Given the description of an element on the screen output the (x, y) to click on. 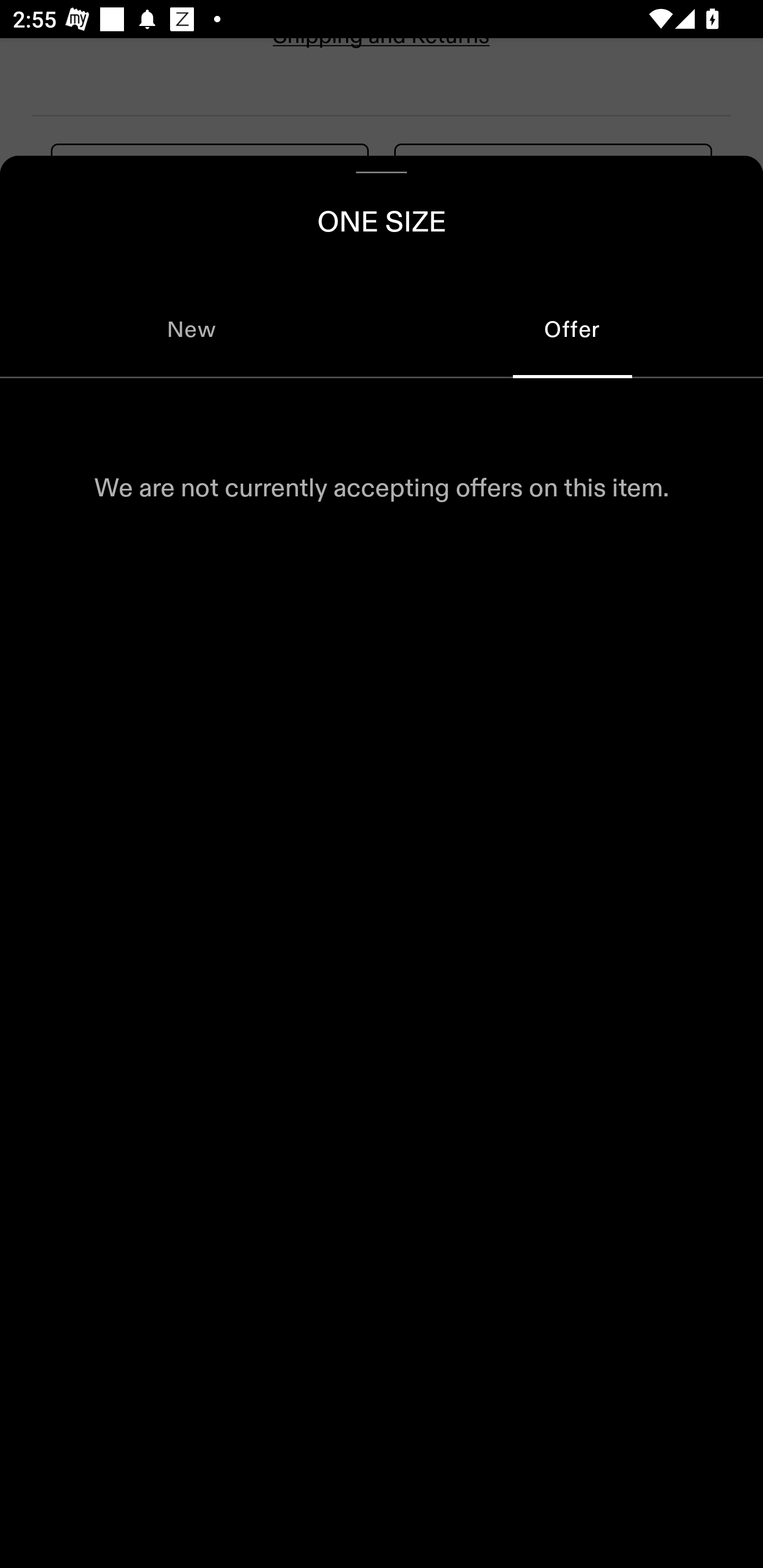
ONE SIZE (381, 218)
New (190, 329)
